Given the description of an element on the screen output the (x, y) to click on. 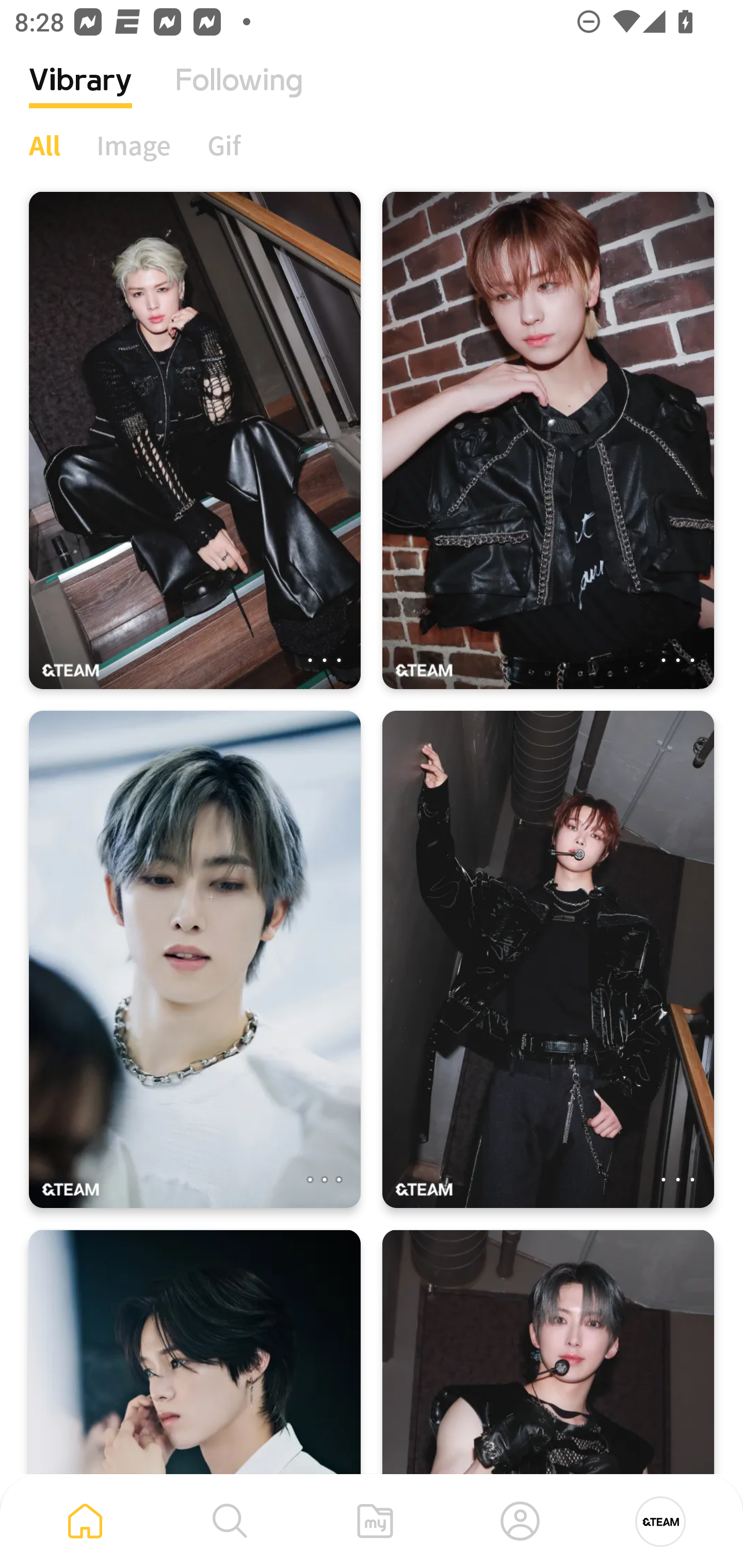
Vibrary (80, 95)
Following (239, 95)
All (44, 145)
Image (133, 145)
Gif (223, 145)
